Given the description of an element on the screen output the (x, y) to click on. 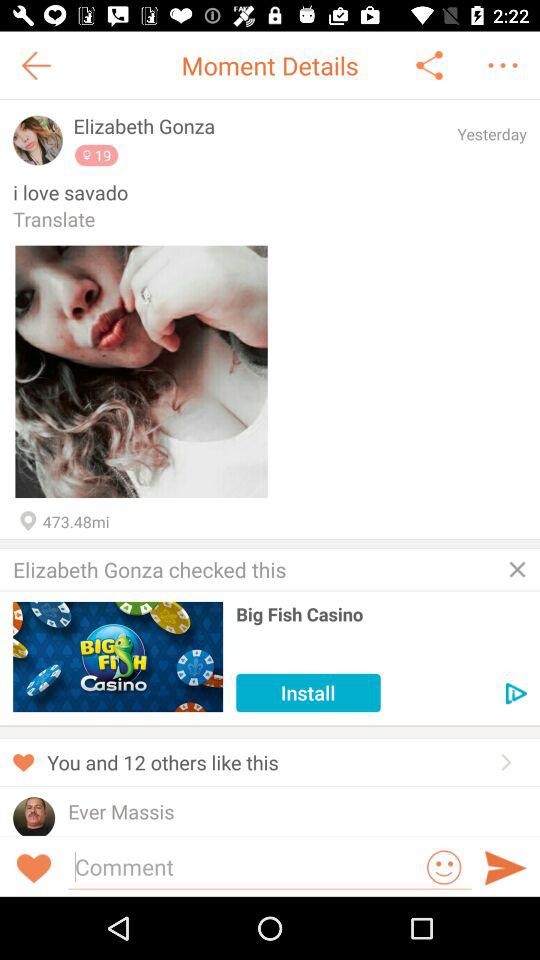
tap the quelinda (104, 832)
